Given the description of an element on the screen output the (x, y) to click on. 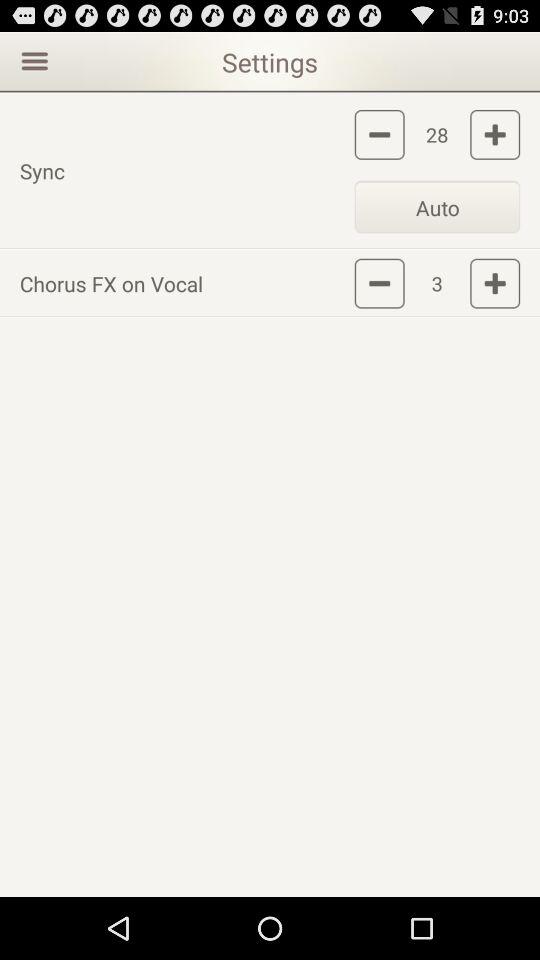
flip to auto item (437, 206)
